Given the description of an element on the screen output the (x, y) to click on. 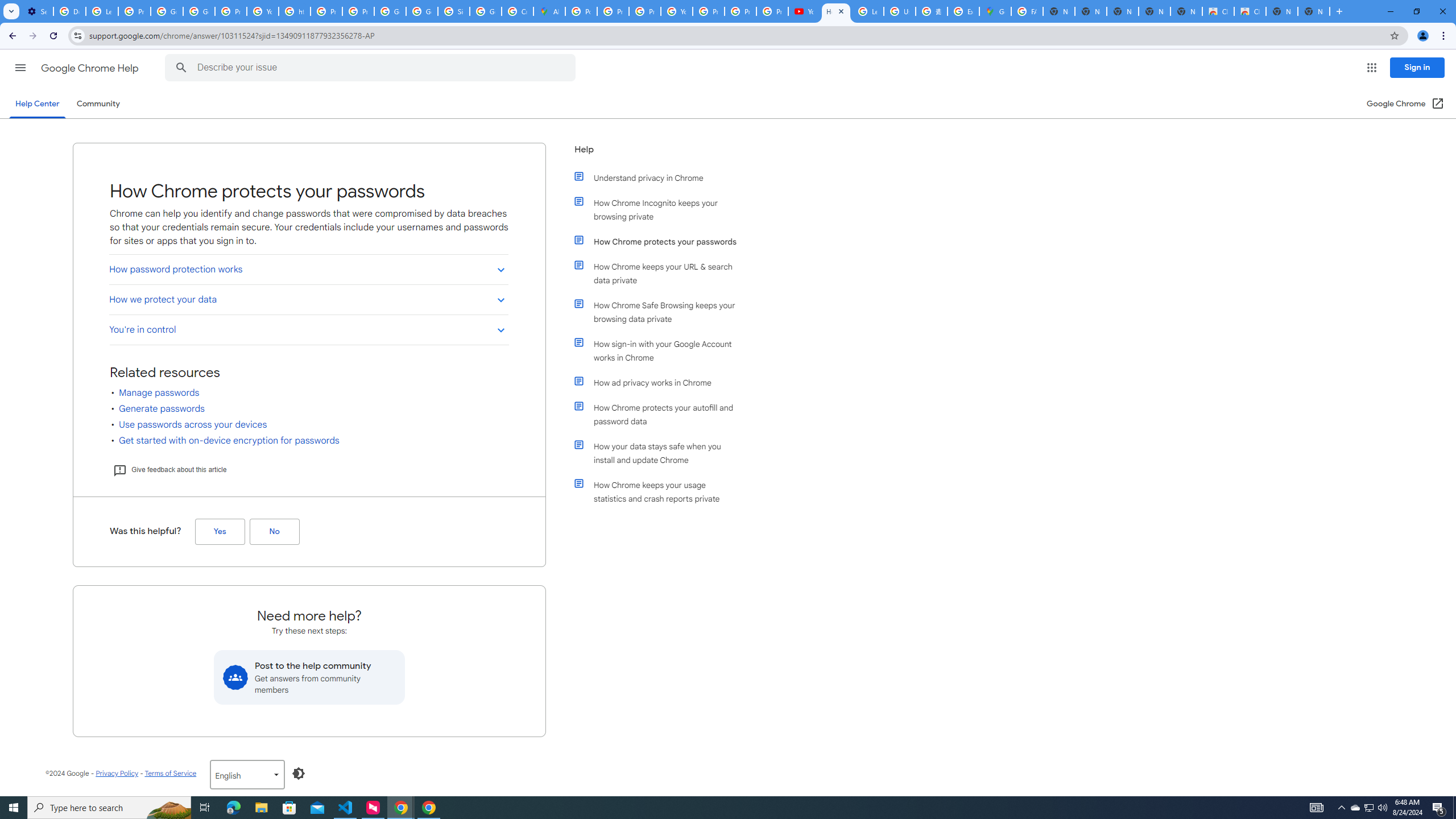
YouTube (676, 11)
Enable Dark Mode (299, 773)
New Tab (1313, 11)
YouTube (804, 11)
How ad privacy works in Chrome (661, 382)
Get started with on-device encryption for passwords (229, 440)
Google Chrome (Open in a new window) (1404, 103)
Create your Google Account (517, 11)
Privacy Checkup (740, 11)
Privacy Checkup (772, 11)
Manage passwords (159, 392)
